Given the description of an element on the screen output the (x, y) to click on. 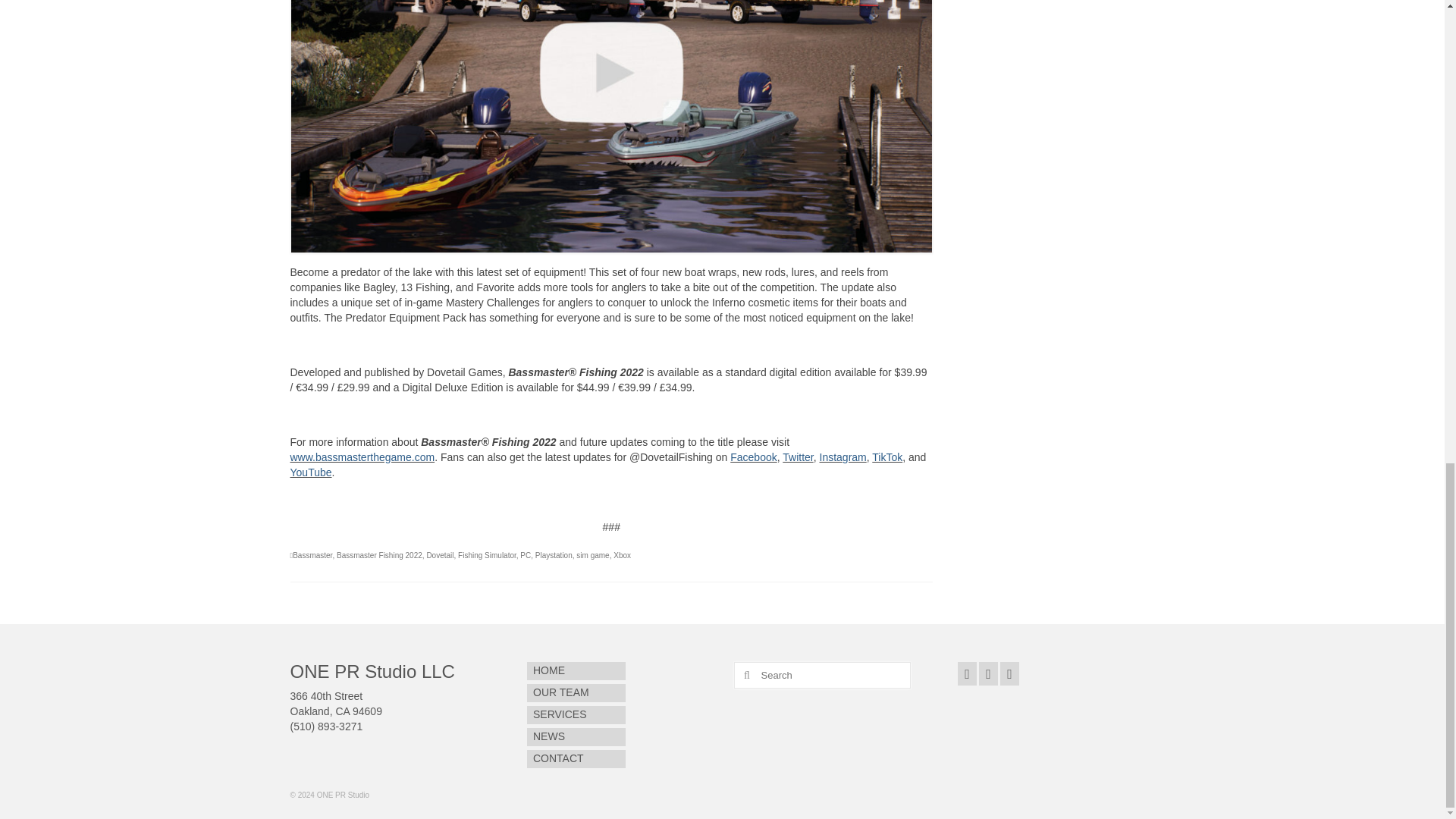
Dovetail (439, 555)
Bassmaster Fishing 2022 (379, 555)
Facebook (753, 457)
Bassmaster (311, 555)
www.bassmasterthegame.com (361, 457)
TikTok (887, 457)
Fishing Simulator (487, 555)
Xbox (621, 555)
Twitter (797, 457)
Instagram (842, 457)
Playstation (553, 555)
YouTube (310, 472)
PC (525, 555)
sim game (592, 555)
